Given the description of an element on the screen output the (x, y) to click on. 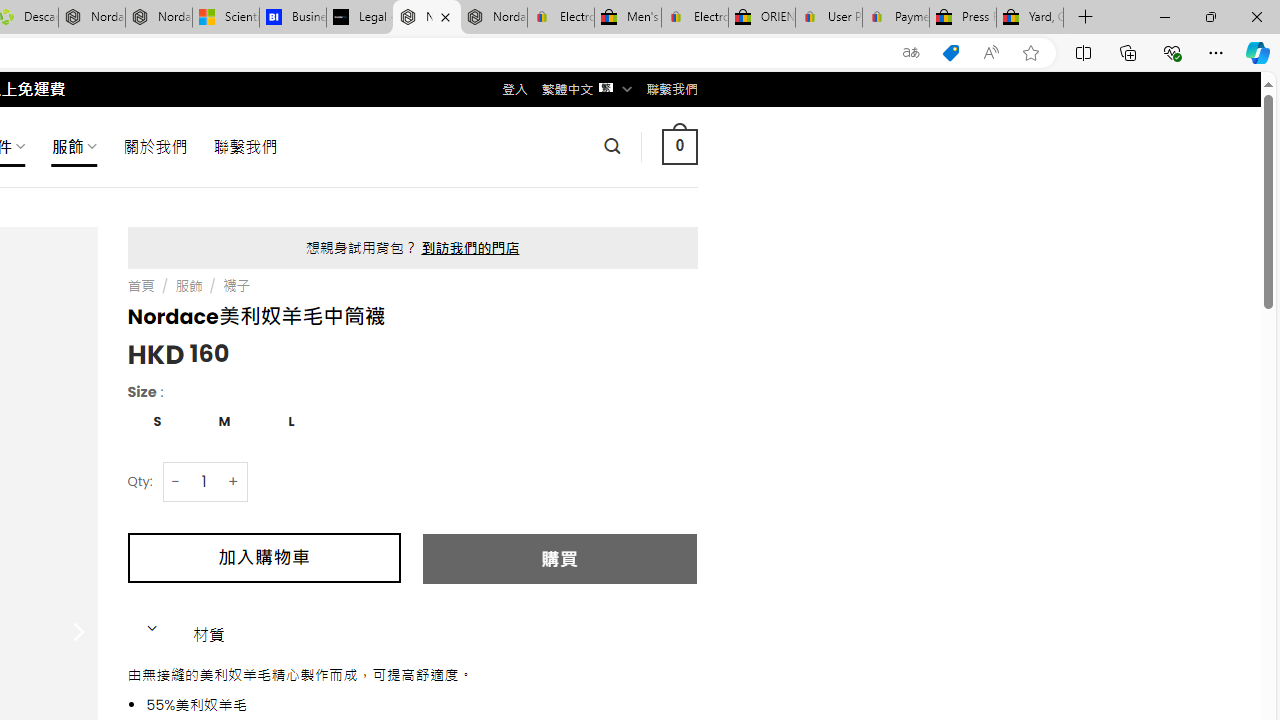
This site has coupons! Shopping in Microsoft Edge (950, 53)
+ (234, 480)
